Given the description of an element on the screen output the (x, y) to click on. 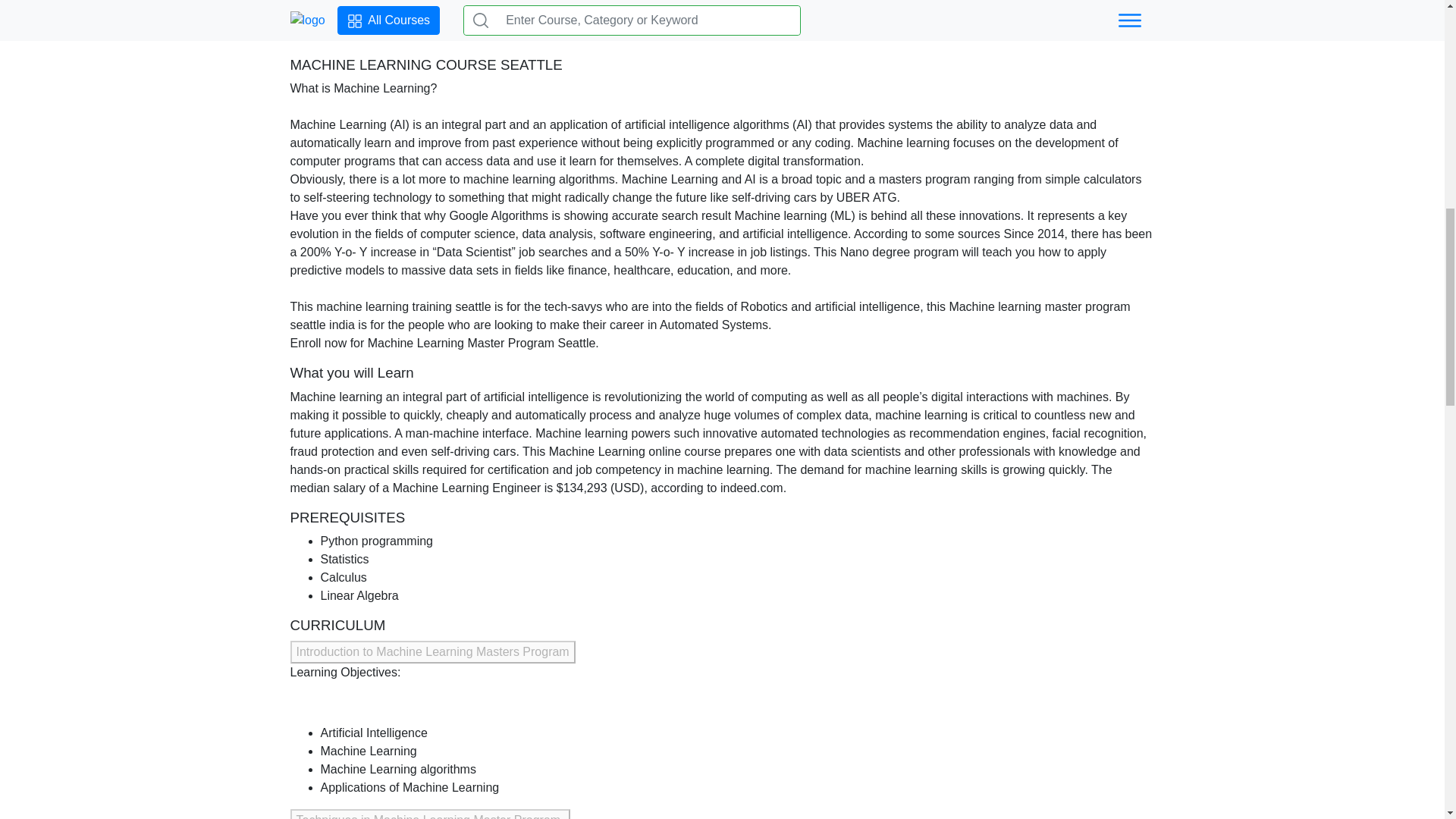
OVERVIEW (38, 10)
CERTIFICATE (537, 10)
FAQ (469, 10)
Request Callback (639, 10)
Techniques in Machine Learning Master Program. (429, 814)
Introduction to Machine Learning Masters Program (432, 651)
PRE-REQUISITES (294, 10)
LEARNING OBJECTIVES (156, 10)
CURRICULUM (401, 10)
